Given the description of an element on the screen output the (x, y) to click on. 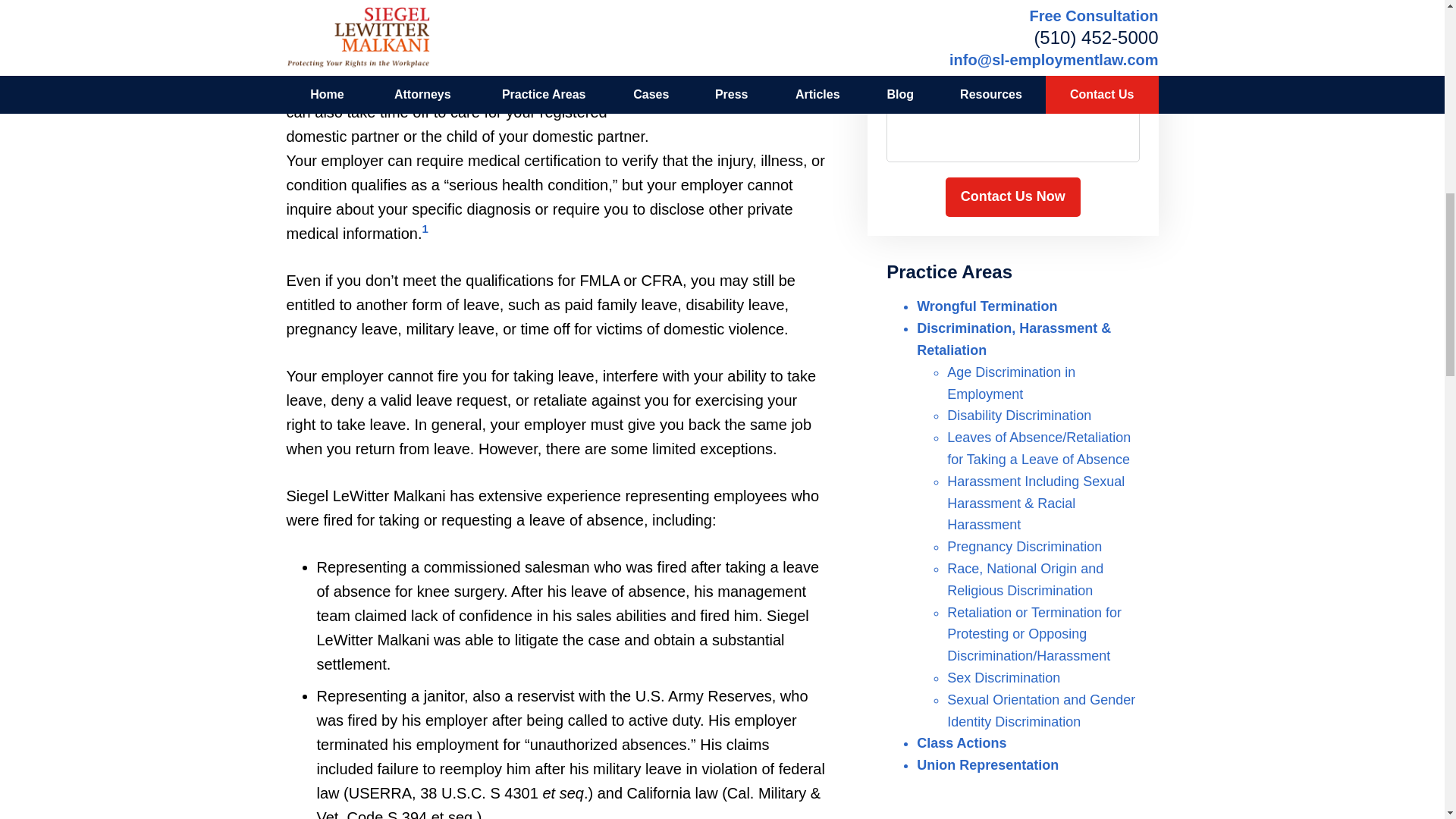
Contact Us Now (1012, 197)
Disability Discrimination (1018, 415)
Age Discrimination in Employment (1011, 383)
Wrongful Termination (987, 305)
